Given the description of an element on the screen output the (x, y) to click on. 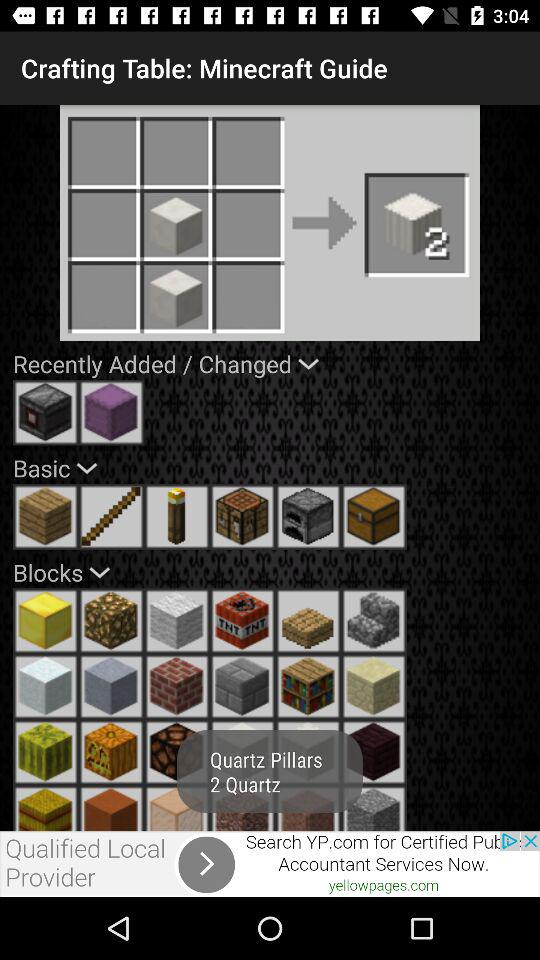
select pillar (308, 808)
